Given the description of an element on the screen output the (x, y) to click on. 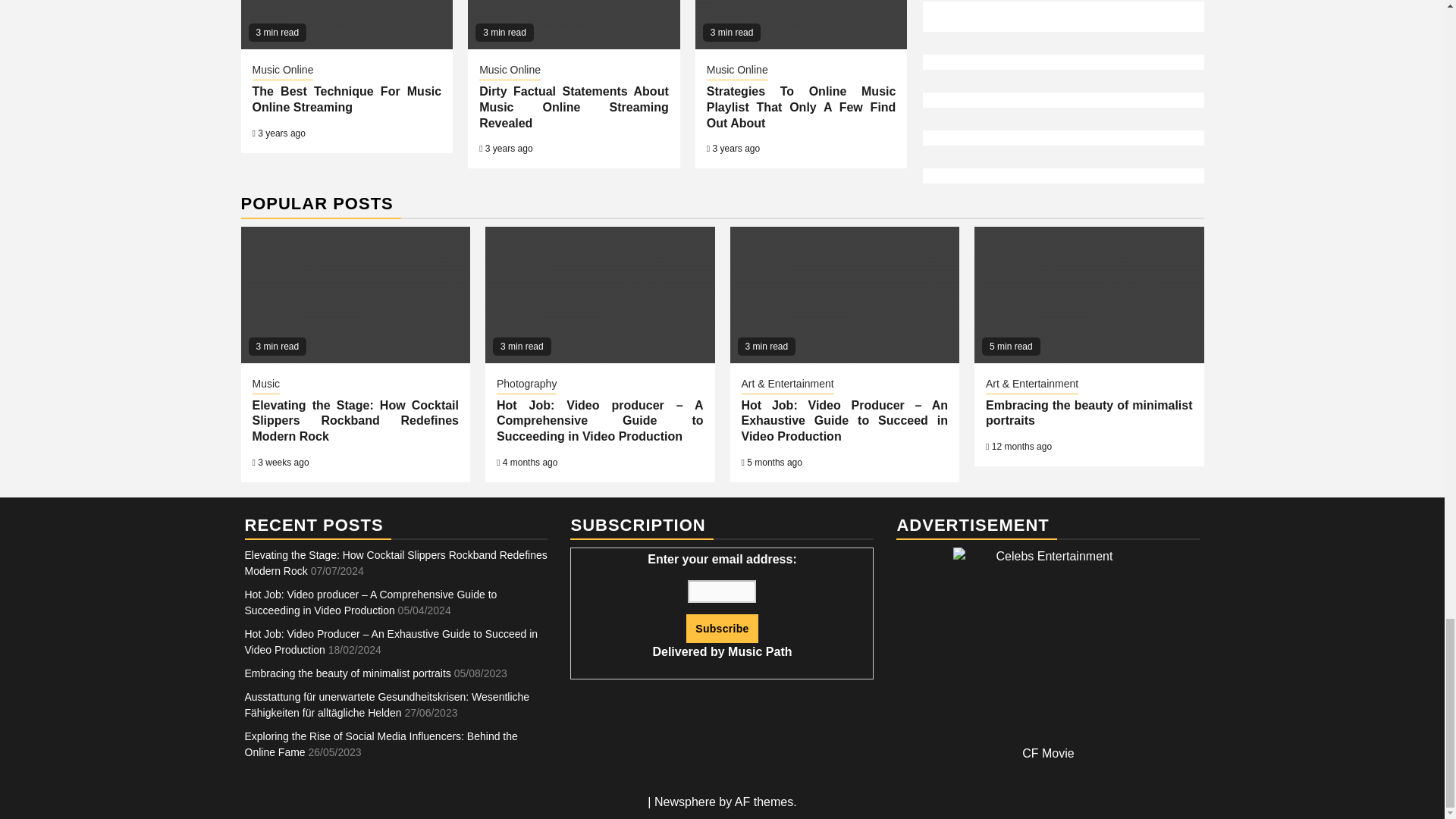
The Best Technique For Music Online Streaming (346, 99)
Music Online (282, 71)
The Best Technique For Music Online Streaming 4 (346, 24)
Music Online (509, 71)
Music Online (737, 71)
Subscribe (721, 628)
